Given the description of an element on the screen output the (x, y) to click on. 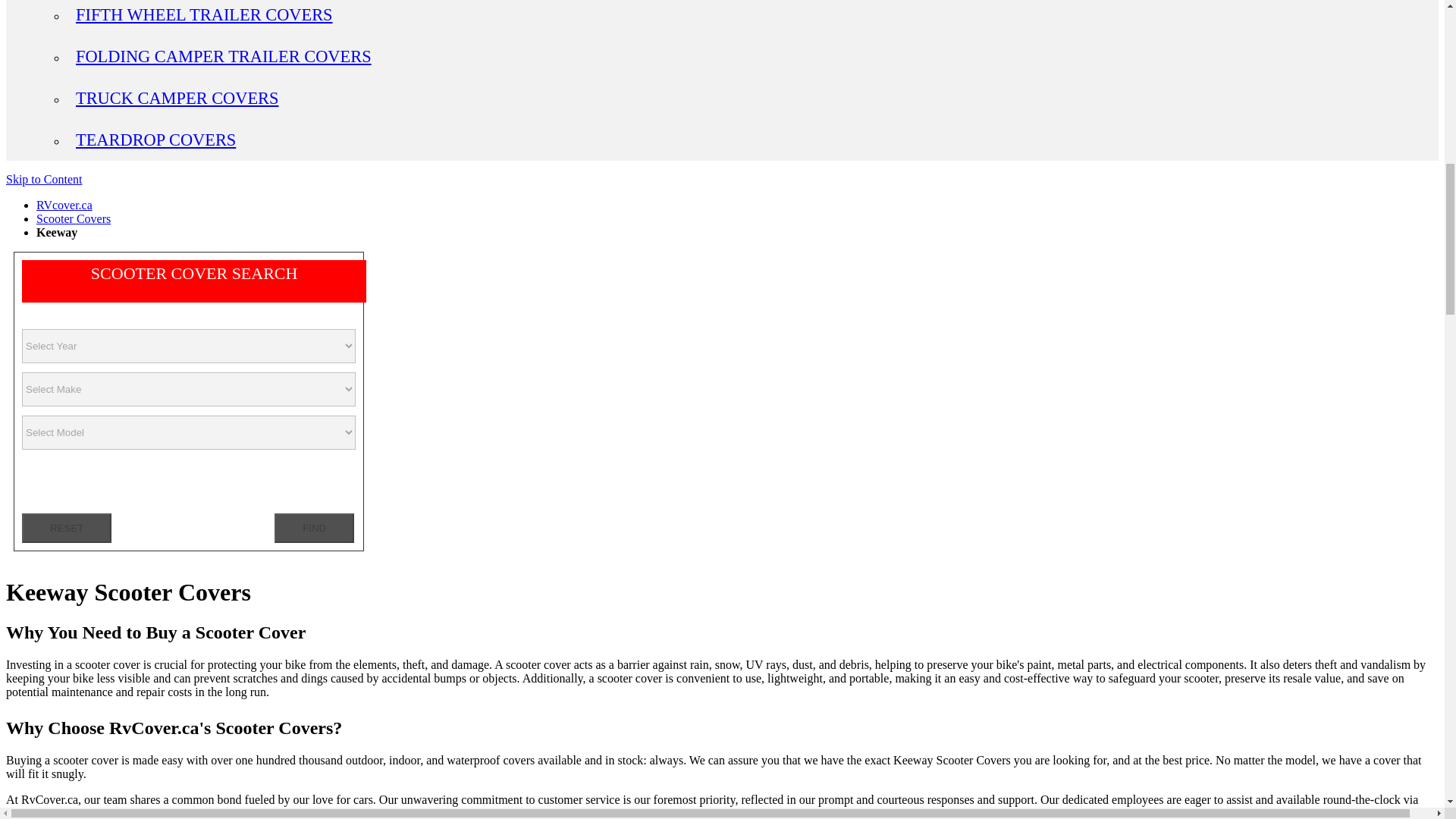
RESET (66, 527)
Find (314, 527)
Teardrop Covers (155, 139)
Fifth Wheel Trailer Covers (204, 14)
Go to Home Page (64, 205)
Truck Camper Covers (177, 97)
Folding Pop Up Camper Trailer Covers (223, 56)
